Given the description of an element on the screen output the (x, y) to click on. 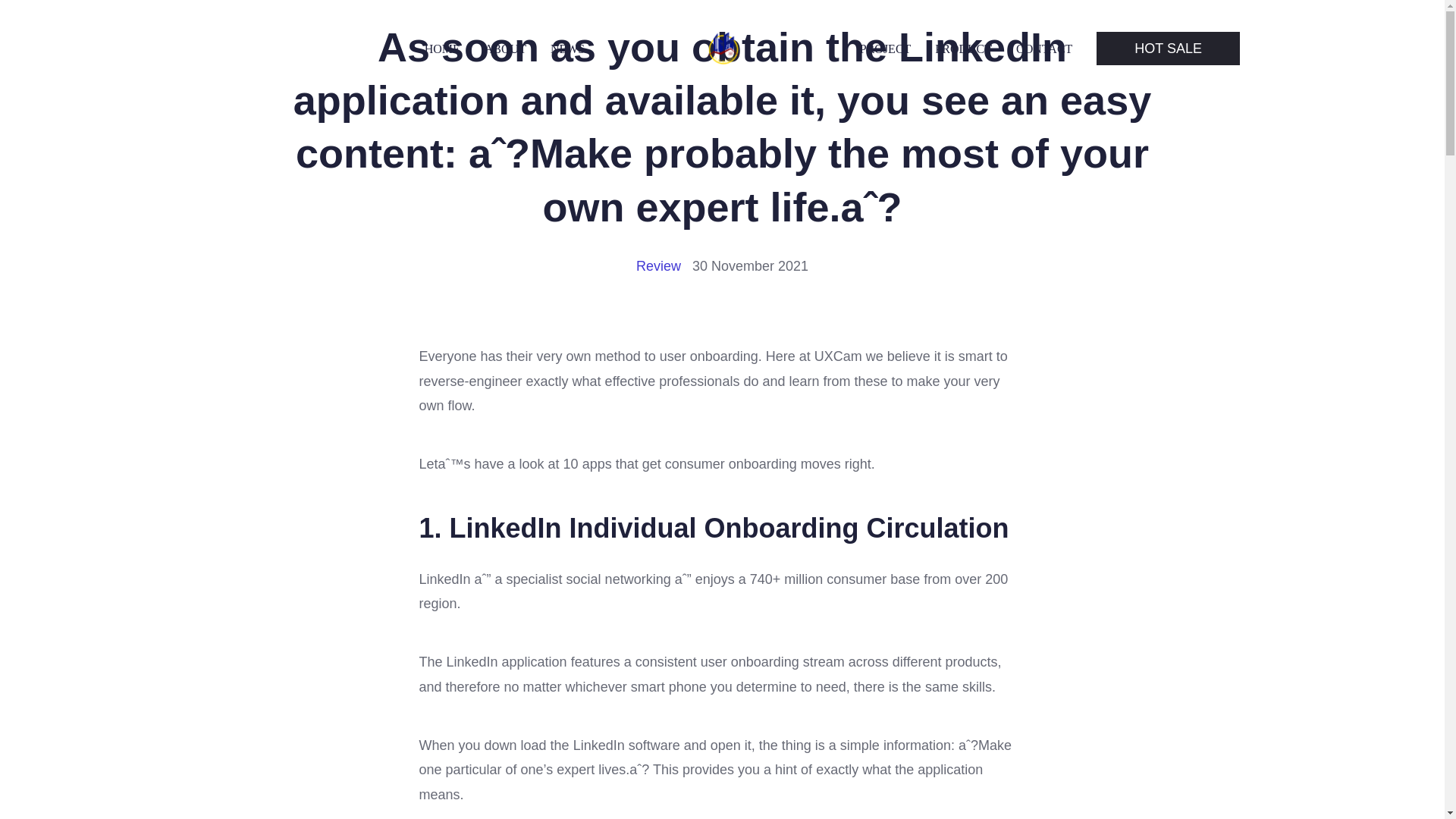
Cari (50, 16)
HOME (442, 49)
NEWS (567, 49)
PROJECT (885, 49)
ABOUT (504, 49)
